Given the description of an element on the screen output the (x, y) to click on. 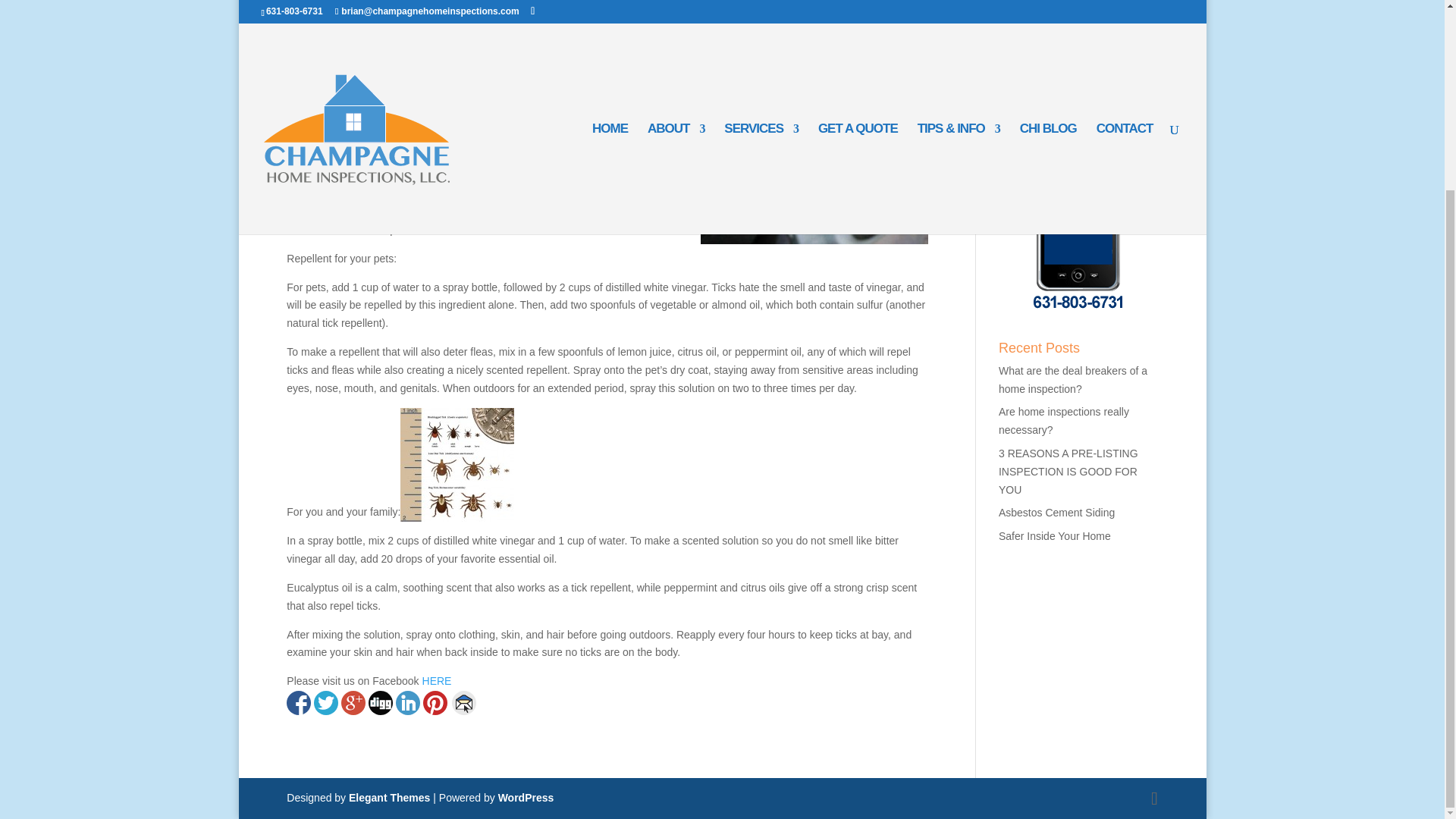
Search (1131, 55)
Share to Digg (380, 702)
Premium WordPress Themes (389, 797)
Posts by Brian Champagne (344, 79)
Share to Google Plus (352, 702)
Share to Facebook (298, 702)
Email this article (463, 702)
Share to Twitter (325, 702)
Share to LinkedIn (408, 702)
Share to Pinterest (434, 702)
